Given the description of an element on the screen output the (x, y) to click on. 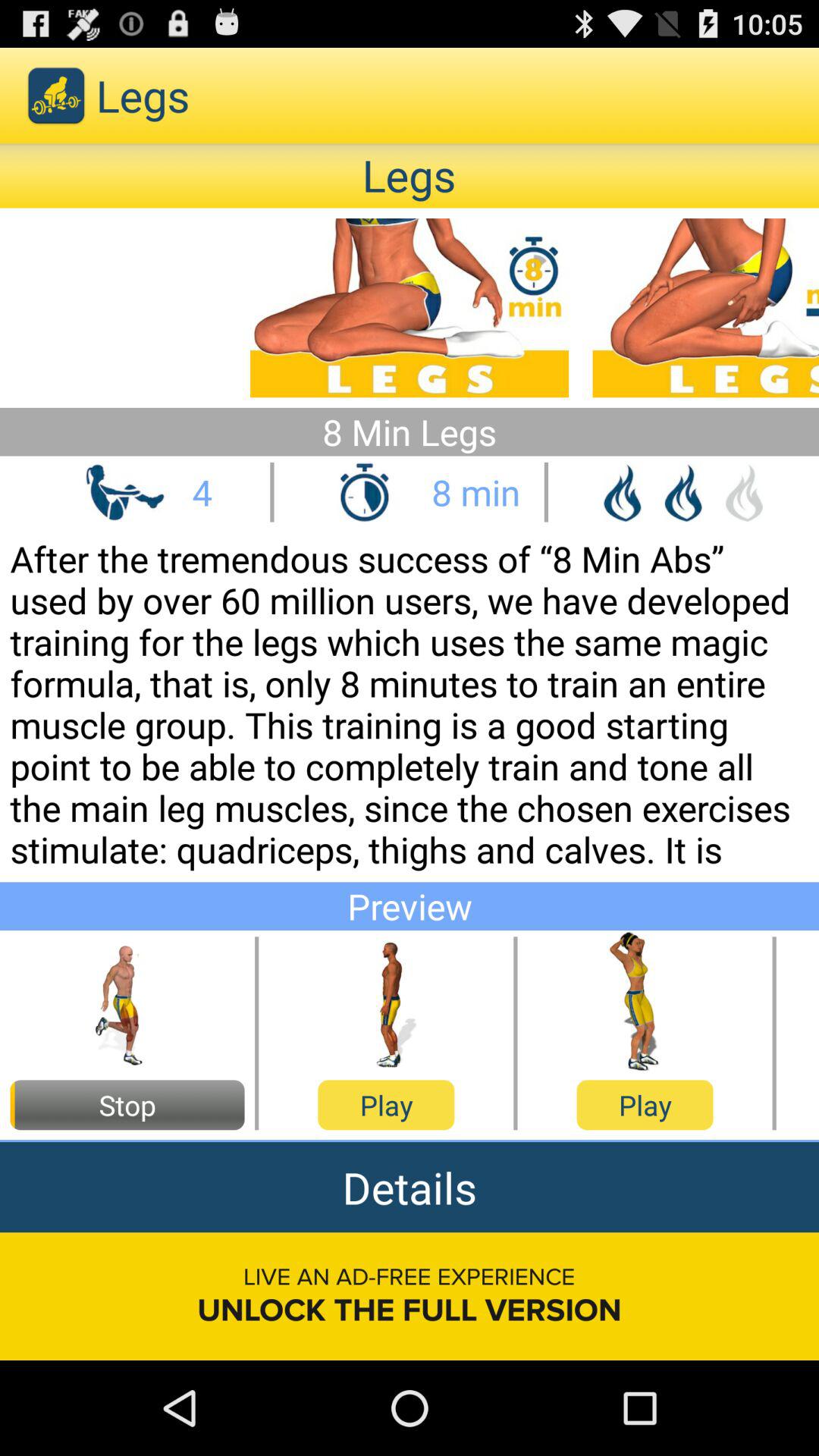
turn on the stop item (127, 1105)
